Given the description of an element on the screen output the (x, y) to click on. 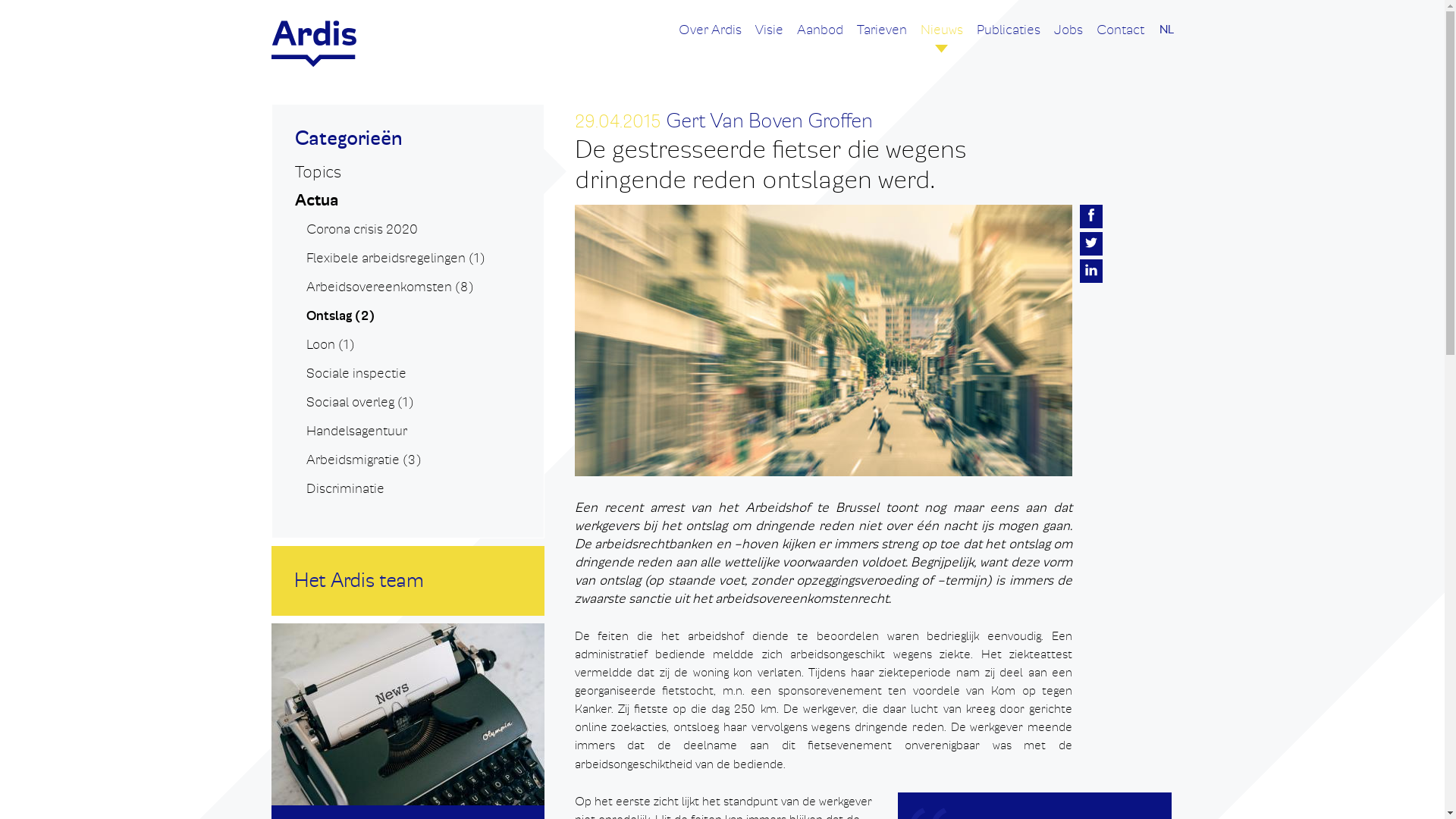
Contact Element type: text (1120, 36)
Nieuws Element type: text (941, 36)
Discriminatie Element type: text (345, 488)
Flexibele arbeidsregelingen (1) Element type: text (395, 258)
Actua Element type: text (315, 200)
Arbeidsmigratie (3) Element type: text (363, 459)
Topics Element type: text (317, 172)
Sociaal overleg (1) Element type: text (360, 402)
Arbeidsovereenkomsten (8) Element type: text (389, 286)
Handelsagentuur Element type: text (356, 430)
Sociale inspectie Element type: text (356, 373)
Loon (1) Element type: text (330, 344)
Ardis Advocaten Element type: text (313, 43)
Corona crisis 2020 Element type: text (361, 229)
Aanbod Element type: text (819, 36)
Visie Element type: text (769, 36)
markus_winkler_aId_xYRTlEc_unsplash.jpg Element type: hover (407, 714)
Over Ardis Element type: text (708, 36)
Tarieven Element type: text (881, 36)
Ontslag (2) Element type: text (340, 315)
Jobs Element type: text (1068, 36)
Publicaties Element type: text (1008, 36)
Ardis advocaten dringende reden Element type: hover (823, 340)
